Given the description of an element on the screen output the (x, y) to click on. 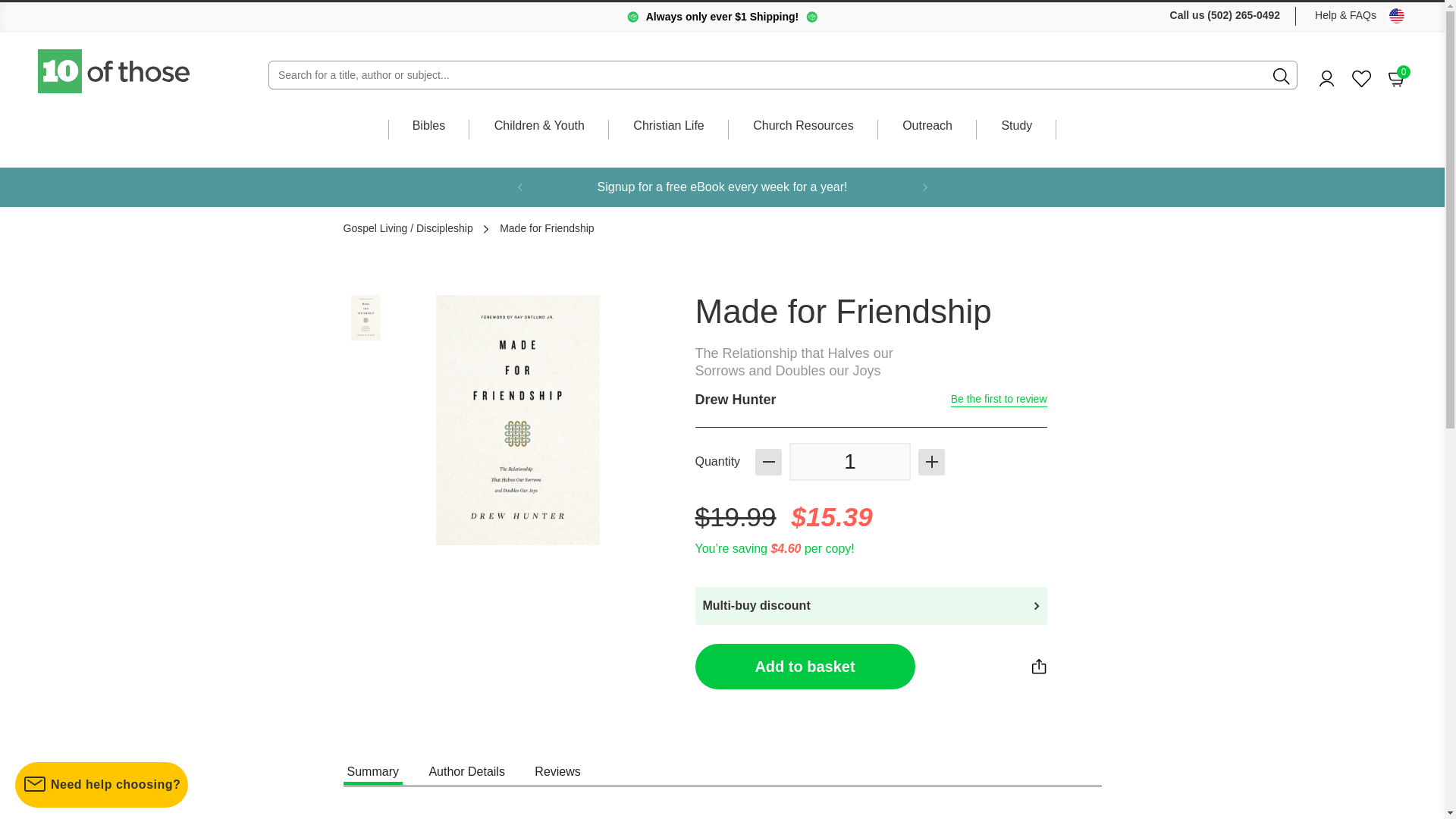
10 of those (114, 71)
Submit the search query. (1281, 76)
1 (850, 461)
Favourites (1361, 78)
Account (1327, 78)
